Given the description of an element on the screen output the (x, y) to click on. 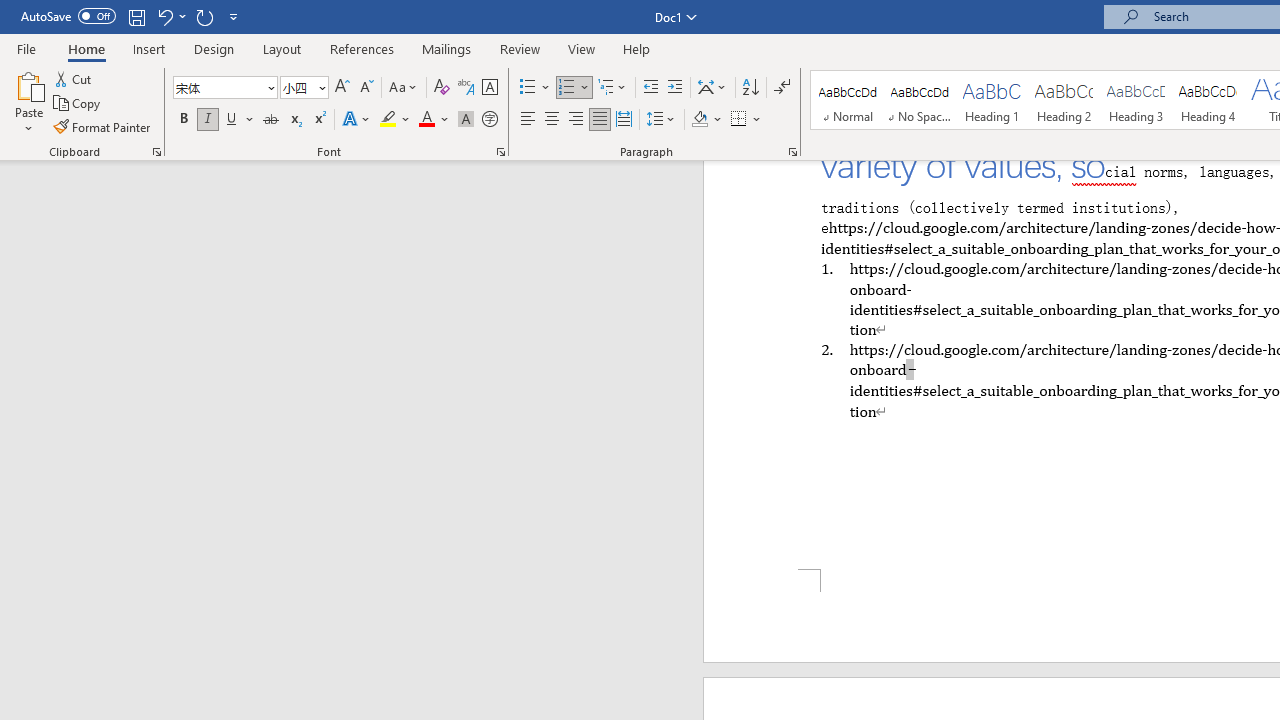
Repeat Style (204, 15)
Heading 2 (1063, 100)
